Given the description of an element on the screen output the (x, y) to click on. 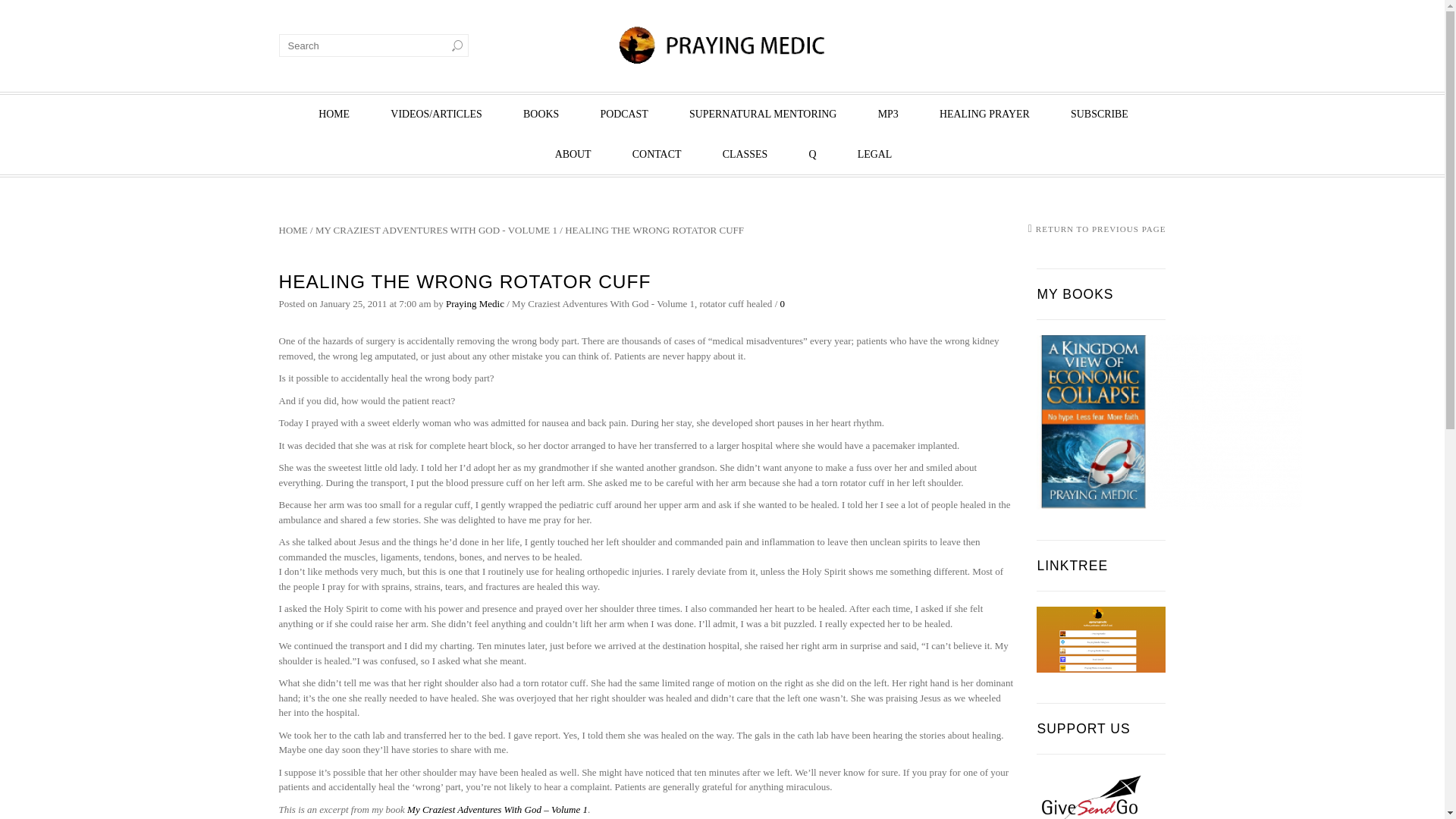
Posts by Praying Medic (474, 303)
